Given the description of an element on the screen output the (x, y) to click on. 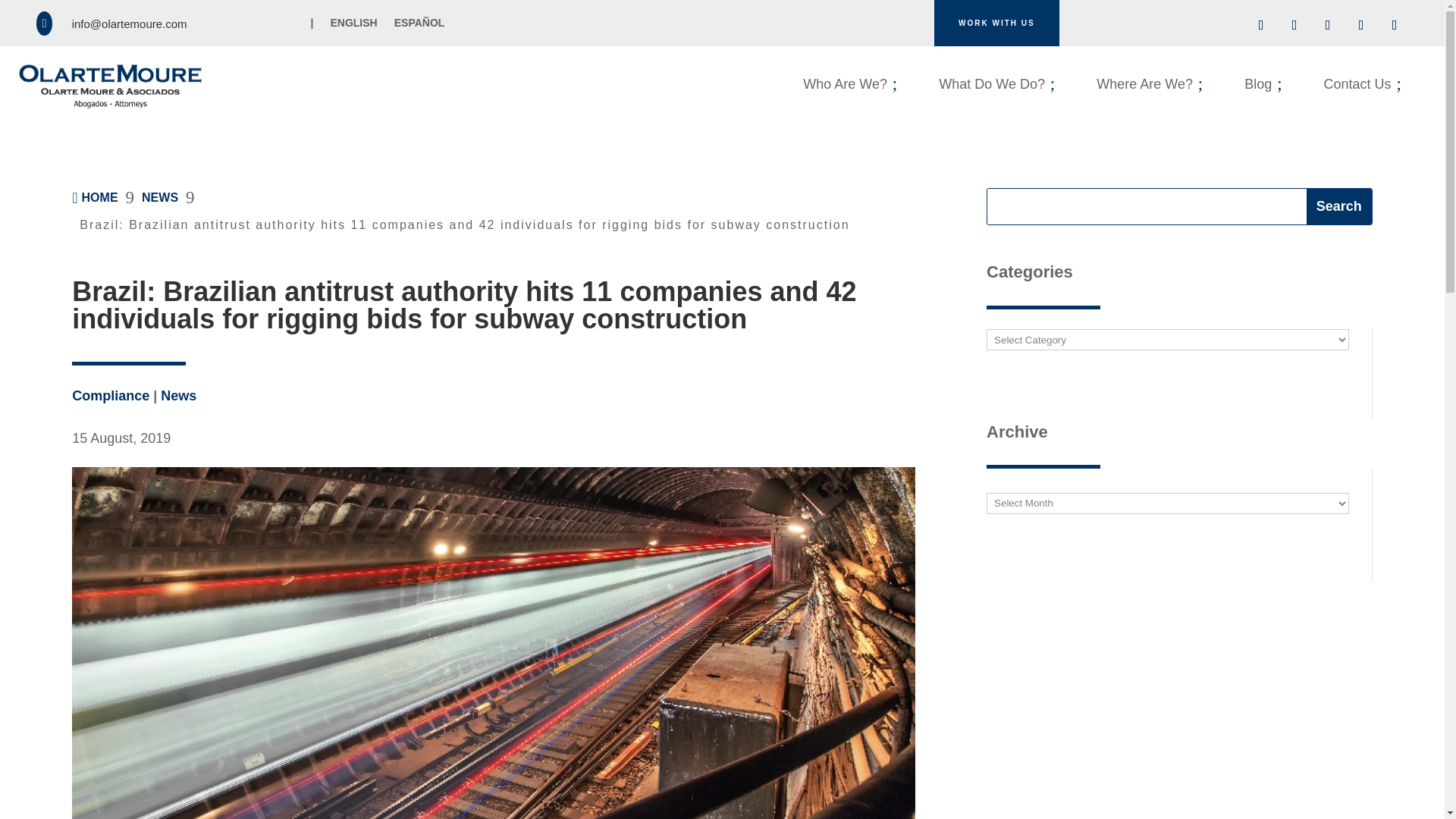
Search (996, 83)
Follow on X (1338, 206)
Logo-OM-Web (1393, 24)
Search (109, 85)
Follow on LinkedIn (1338, 206)
ENGLISH (1261, 24)
Follow on Instagram (353, 25)
English (1327, 24)
Follow on Youtube (850, 83)
WORK WITH US (353, 25)
Follow on Facebook (1361, 24)
